Given the description of an element on the screen output the (x, y) to click on. 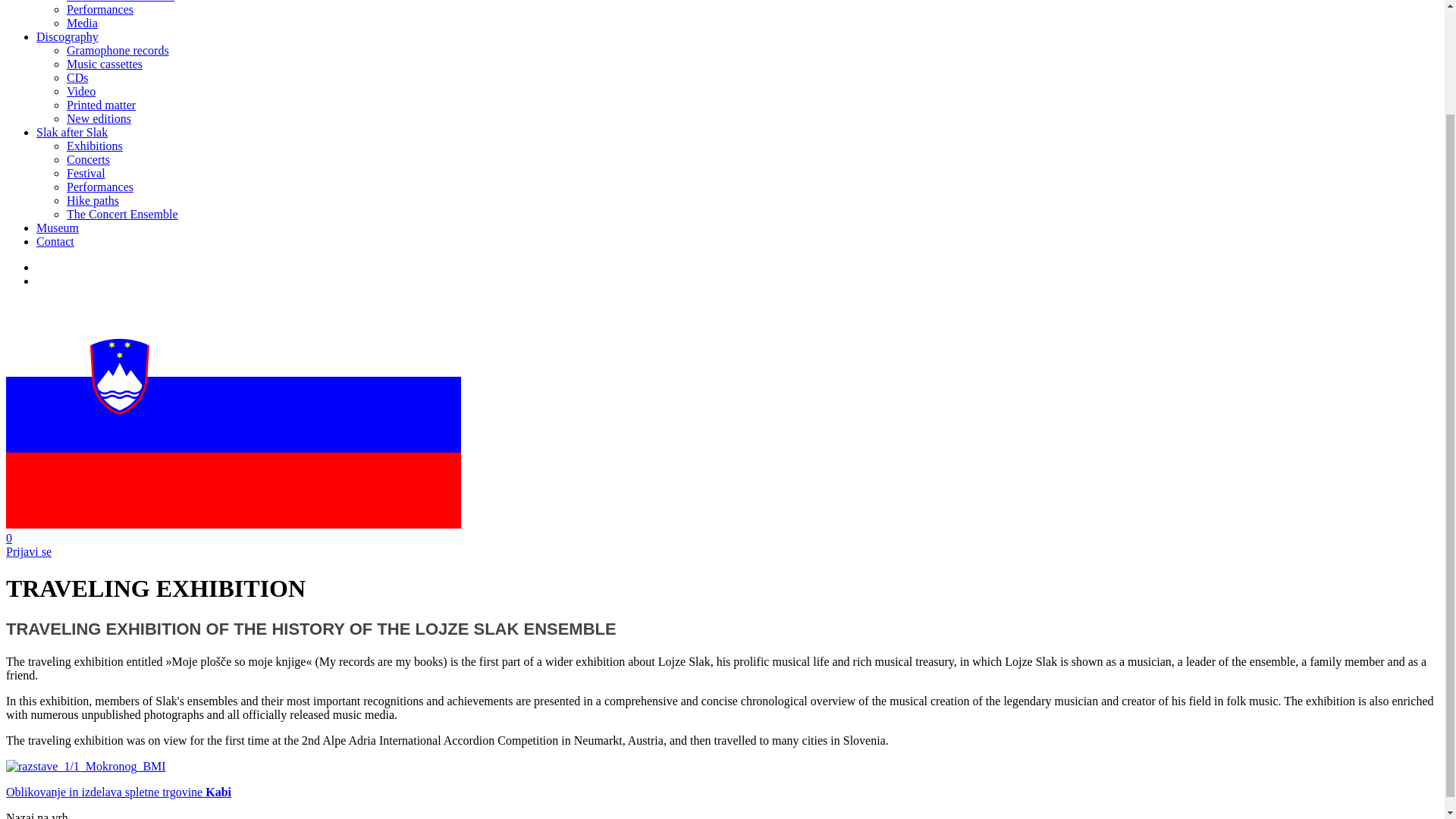
Video (81, 91)
Members of ensemble (120, 1)
Slak after Slak (71, 132)
Festival (85, 173)
Exhibitions (94, 145)
Music cassettes (104, 63)
Printed matter (100, 104)
Prijavi se (27, 551)
Museum (57, 227)
Concerts (88, 159)
Media (81, 22)
Hike paths (92, 200)
The Concert Ensemble (121, 214)
Discography (67, 36)
New editions (98, 118)
